Given the description of an element on the screen output the (x, y) to click on. 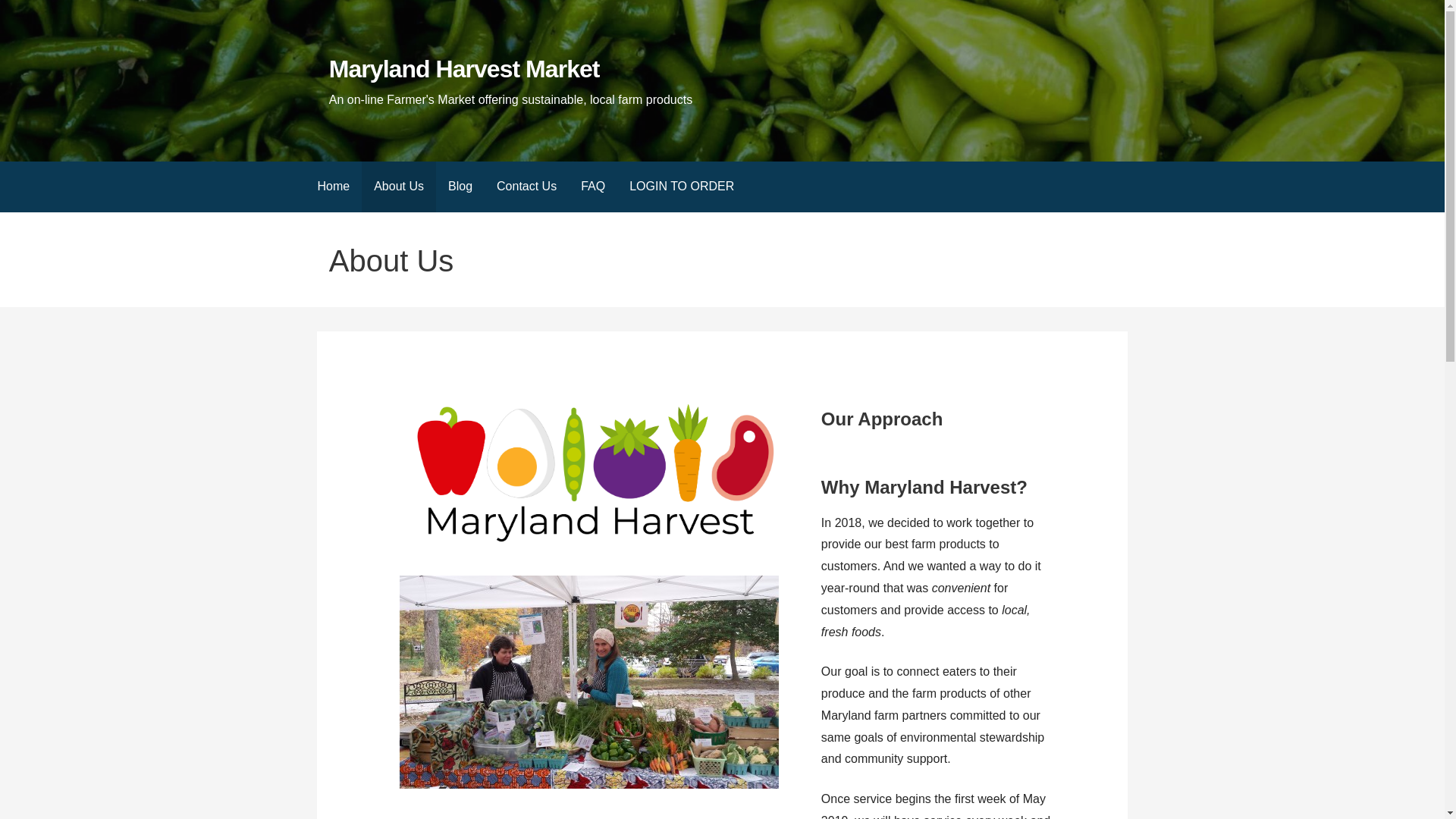
Maryland Harvest Market (464, 68)
FAQ (593, 186)
Blog (459, 186)
LOGIN TO ORDER (681, 186)
Contact Us (526, 186)
Meg at the Farm Stand (588, 681)
Maryland Harvest FINAL (589, 474)
About Us (398, 186)
Home (332, 186)
